Given the description of an element on the screen output the (x, y) to click on. 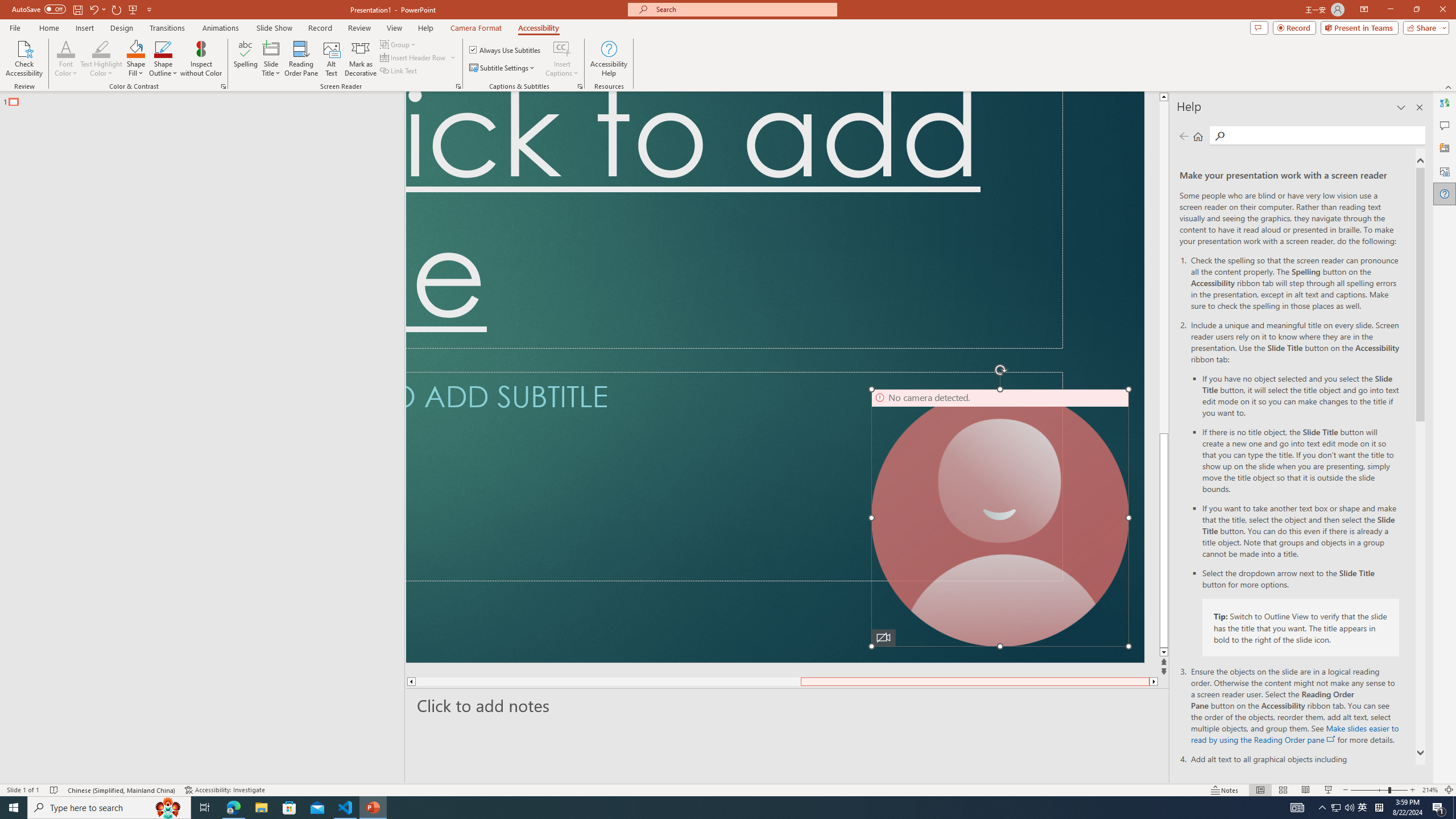
Screen Reader (458, 85)
openinnewwindow (1330, 739)
